Given the description of an element on the screen output the (x, y) to click on. 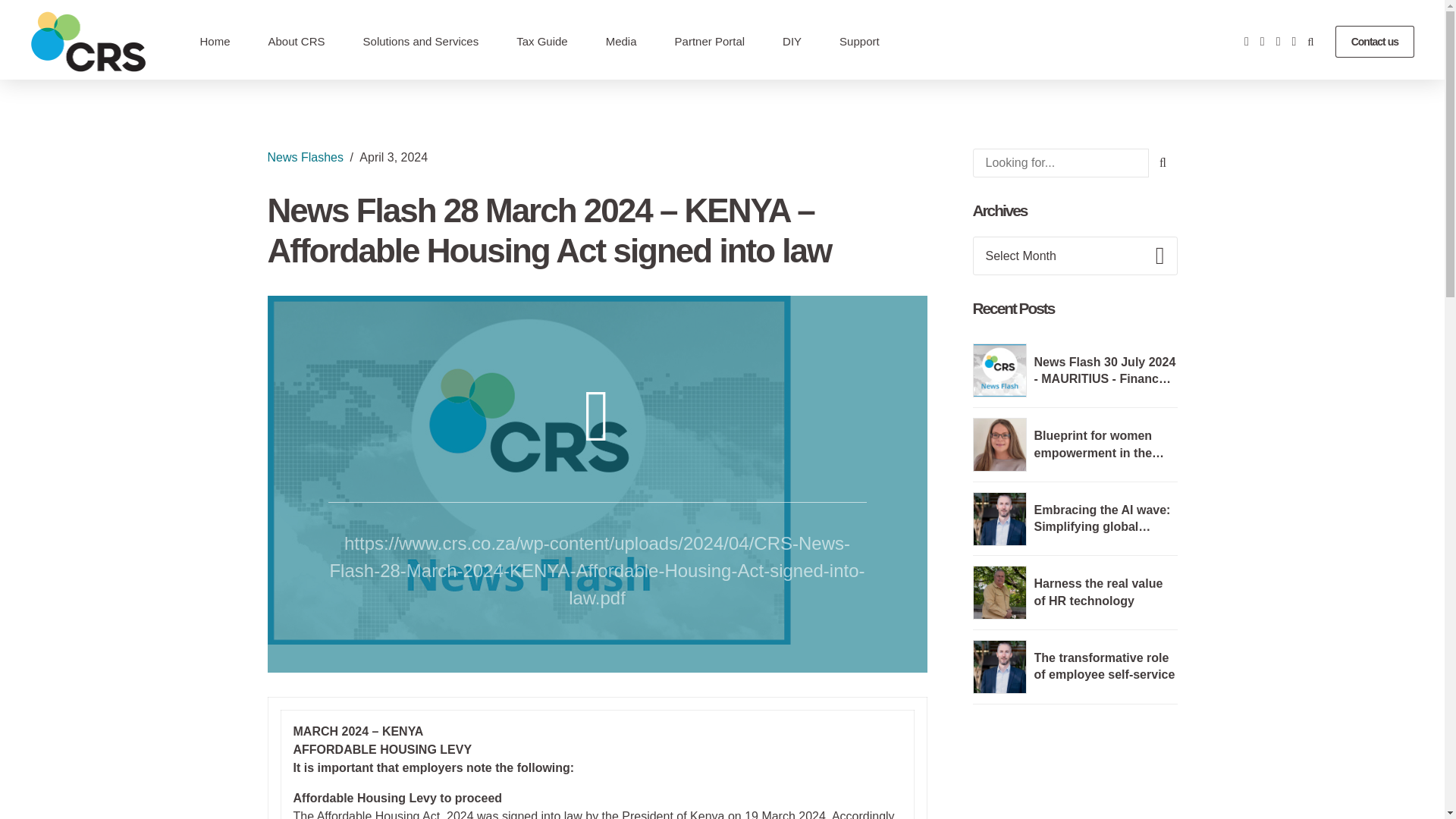
Embracing the AI wave: Simplifying global payroll (1101, 526)
Partner Portal (709, 41)
The transformative role of employee self-service (1103, 665)
Media (621, 41)
Media (621, 41)
Tax Guide (541, 41)
Blueprint for women empowerment in the workplace (1098, 452)
Harness the real value of HR technology (1098, 591)
News Flashes (304, 156)
Home (214, 41)
Solutions and Services (421, 41)
DIY (791, 41)
Support (859, 41)
About CRS (296, 41)
